Given the description of an element on the screen output the (x, y) to click on. 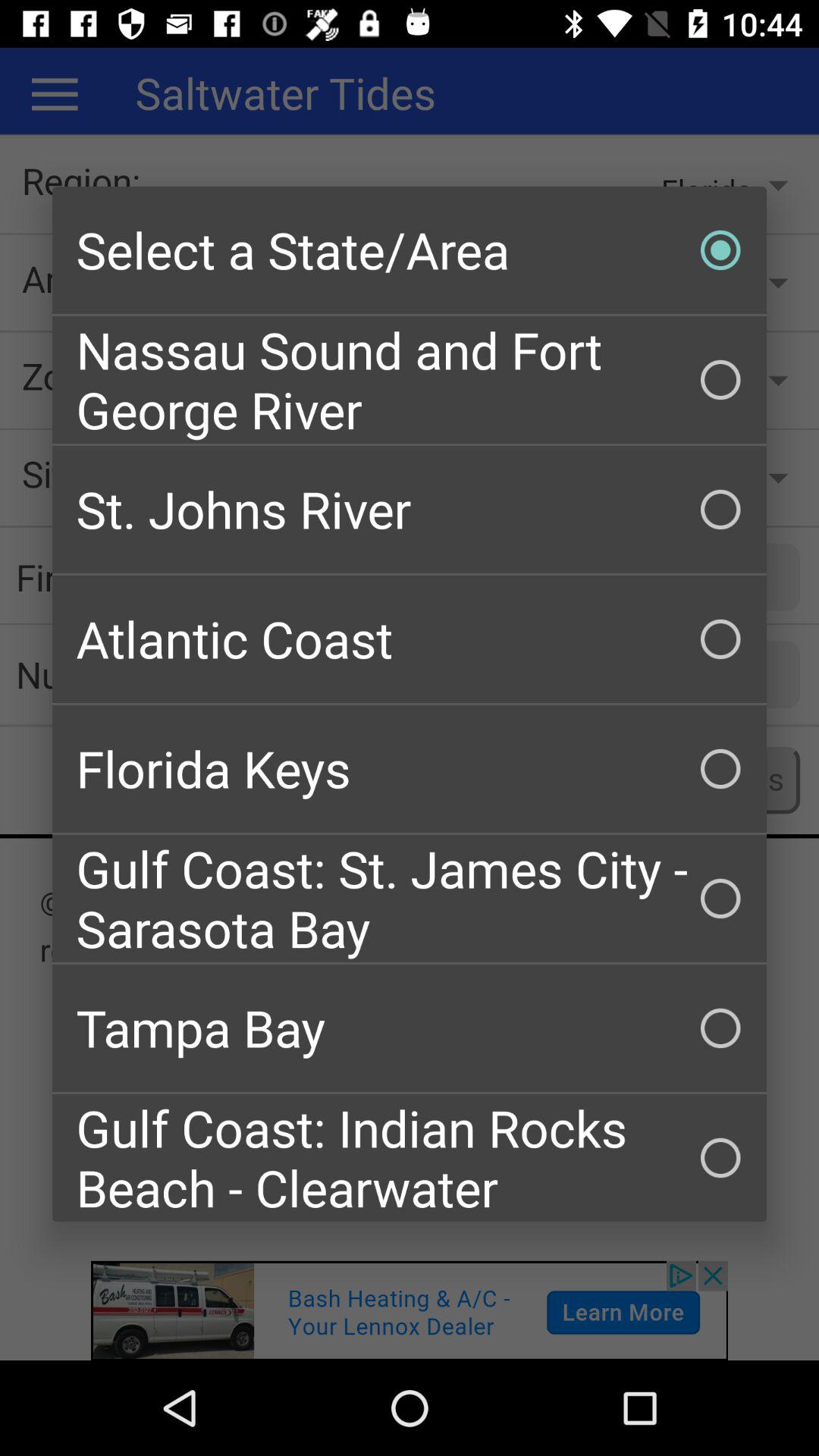
click the icon below gulf coast st (409, 1028)
